Given the description of an element on the screen output the (x, y) to click on. 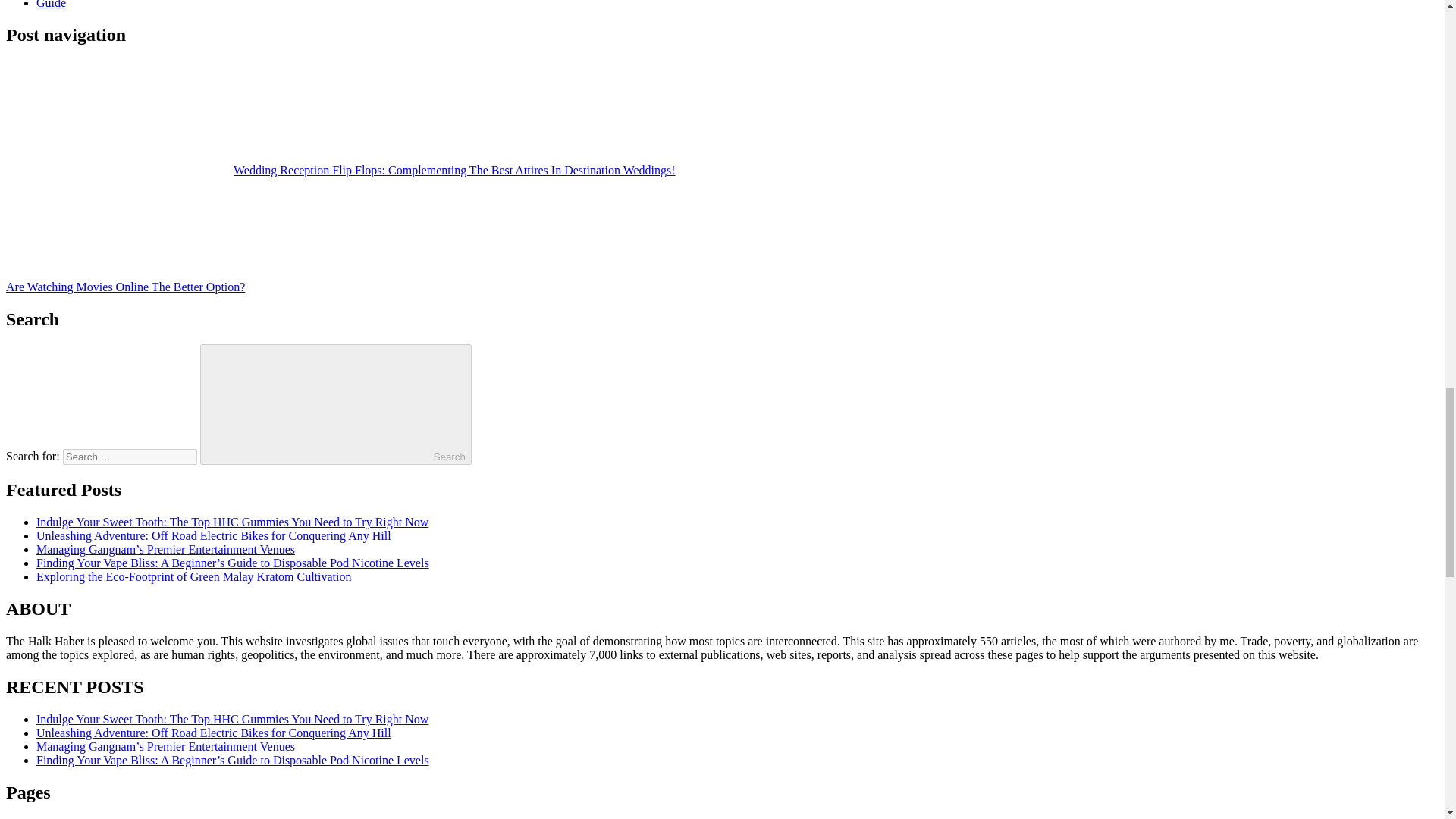
Guide (50, 4)
Are Watching Movies Online The Better Option? (238, 286)
Search (335, 404)
About us (58, 818)
